Given the description of an element on the screen output the (x, y) to click on. 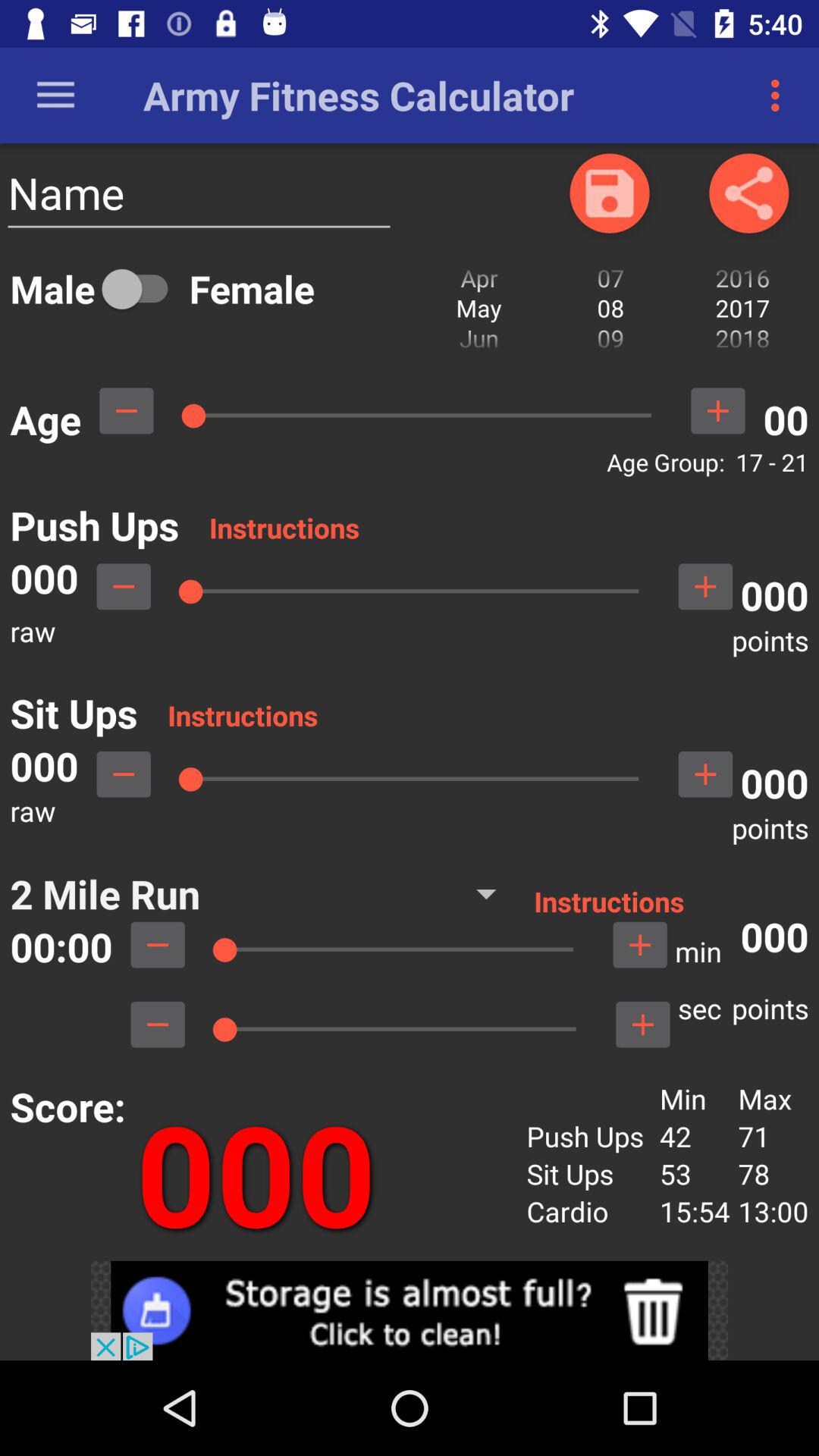
lower push ups count (123, 586)
